Given the description of an element on the screen output the (x, y) to click on. 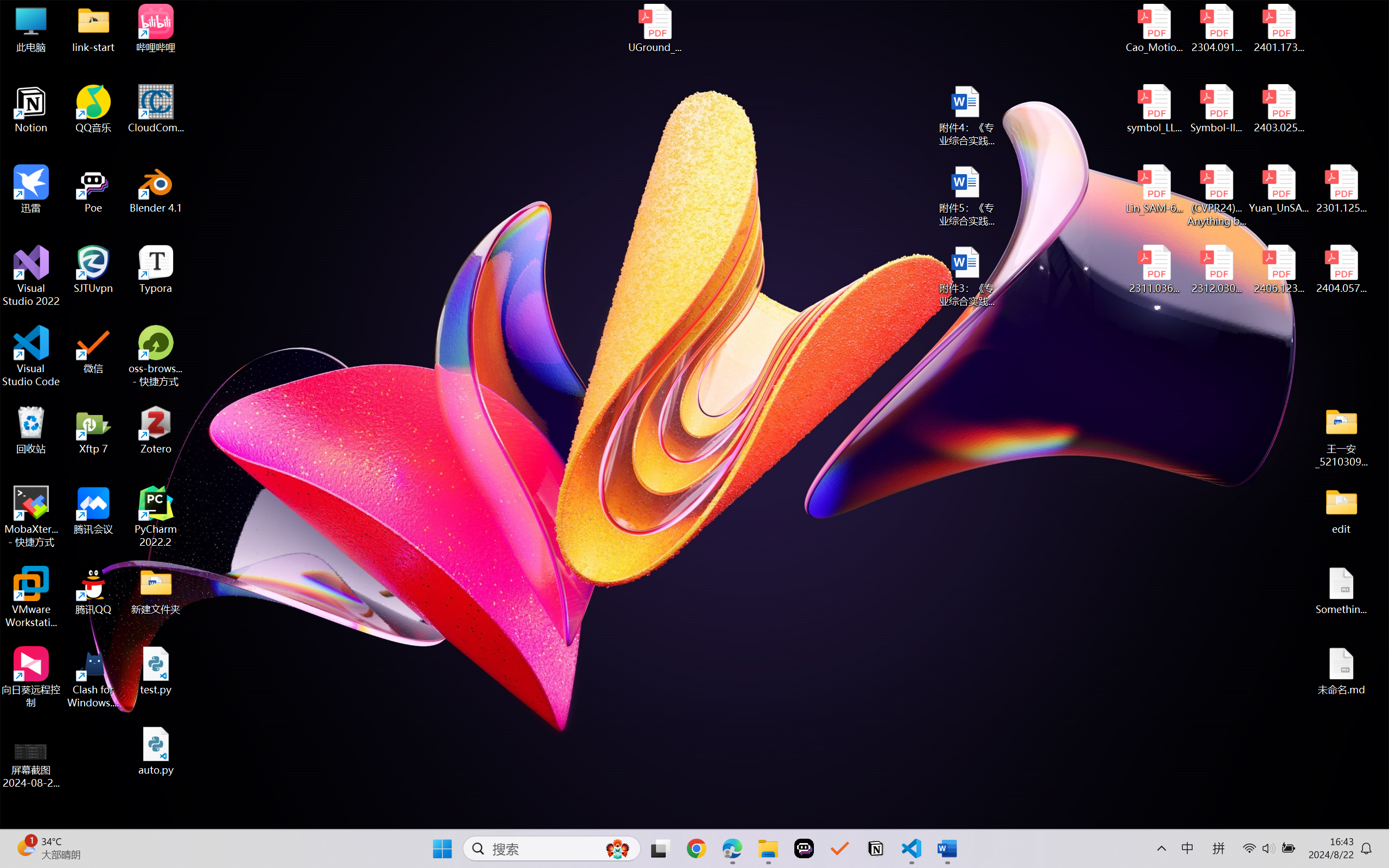
SJTUvpn (93, 269)
Xftp 7 (93, 430)
CloudCompare (156, 109)
2301.12597v3.pdf (1340, 189)
UGround_paper.pdf (654, 28)
2304.09121v3.pdf (1216, 28)
test.py (156, 670)
